Given the description of an element on the screen output the (x, y) to click on. 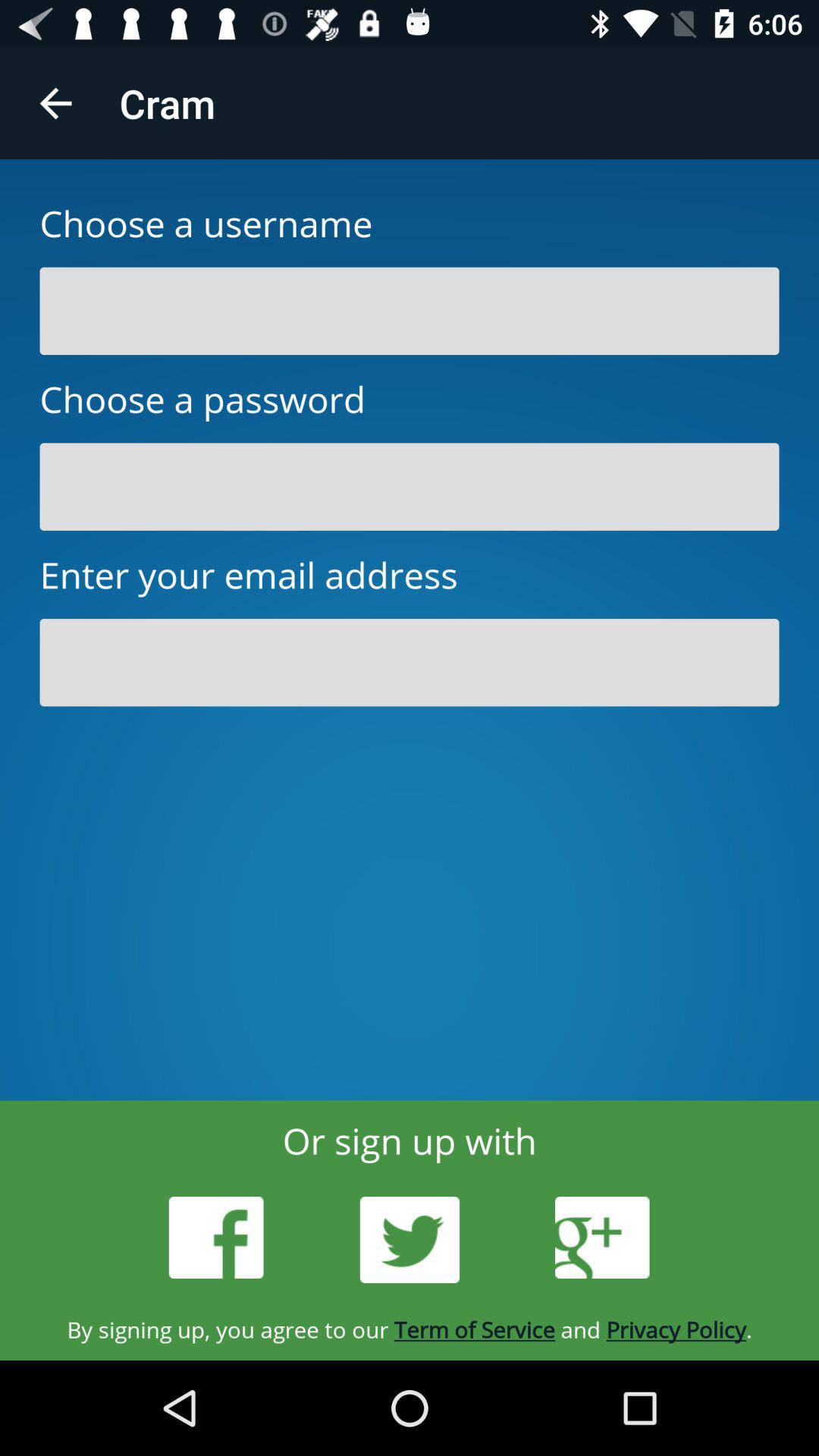
open the app to the left of cram icon (55, 103)
